Given the description of an element on the screen output the (x, y) to click on. 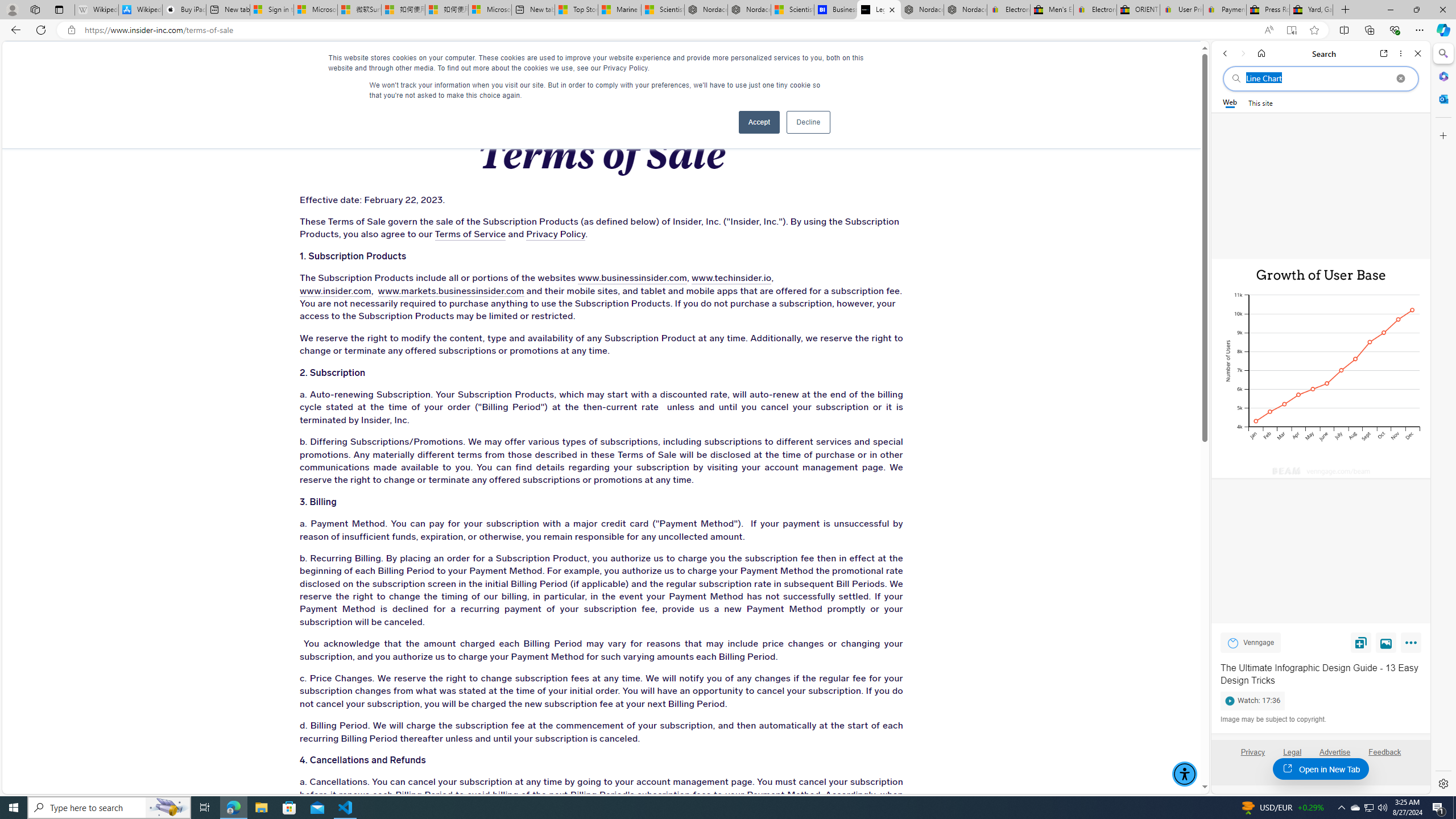
Accessibility Menu (1184, 773)
WHO WE ARE (347, 62)
CAREERS (830, 62)
Minimize Search pane (1442, 53)
